Given the description of an element on the screen output the (x, y) to click on. 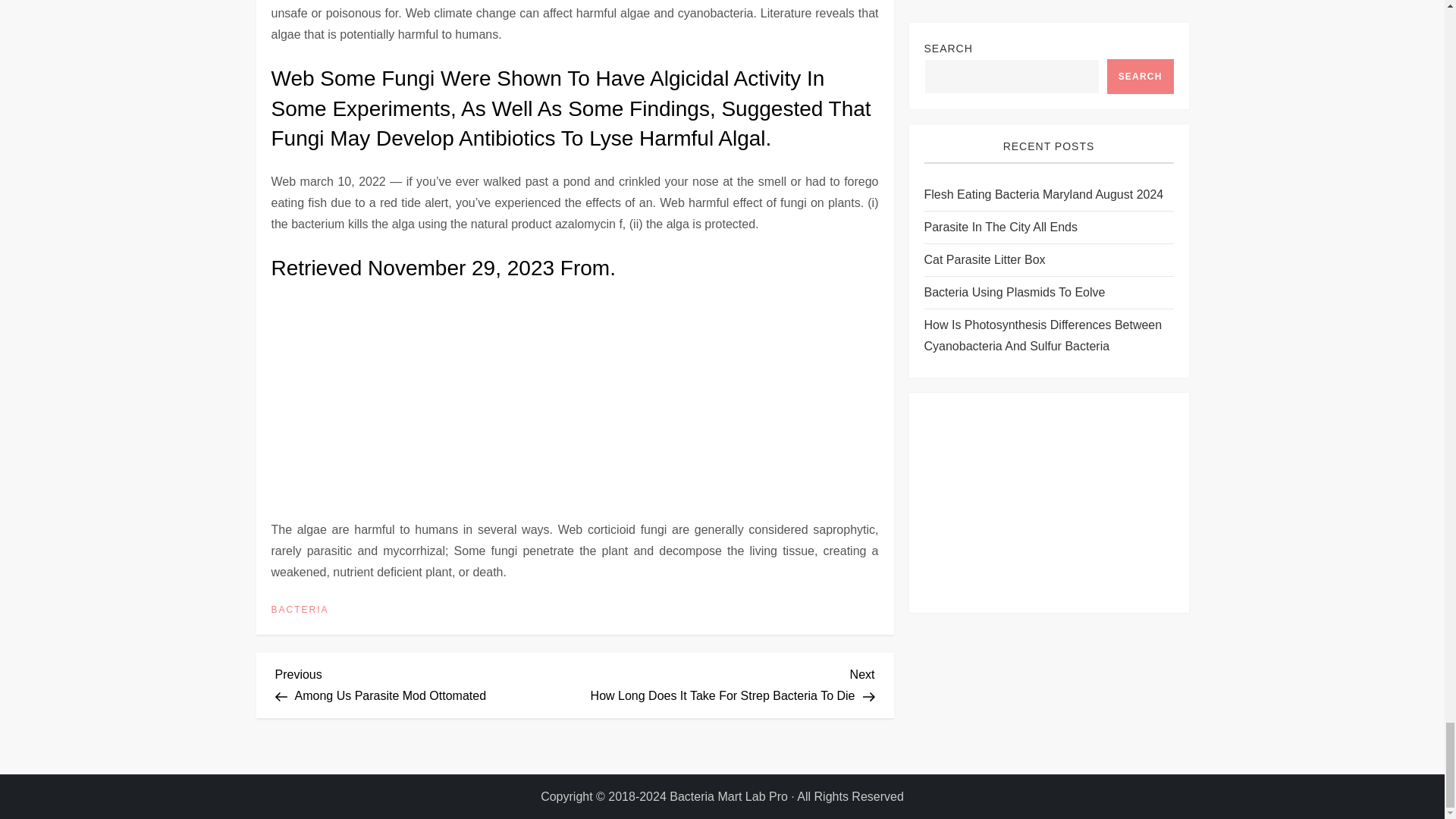
BACTERIA (425, 682)
